Given the description of an element on the screen output the (x, y) to click on. 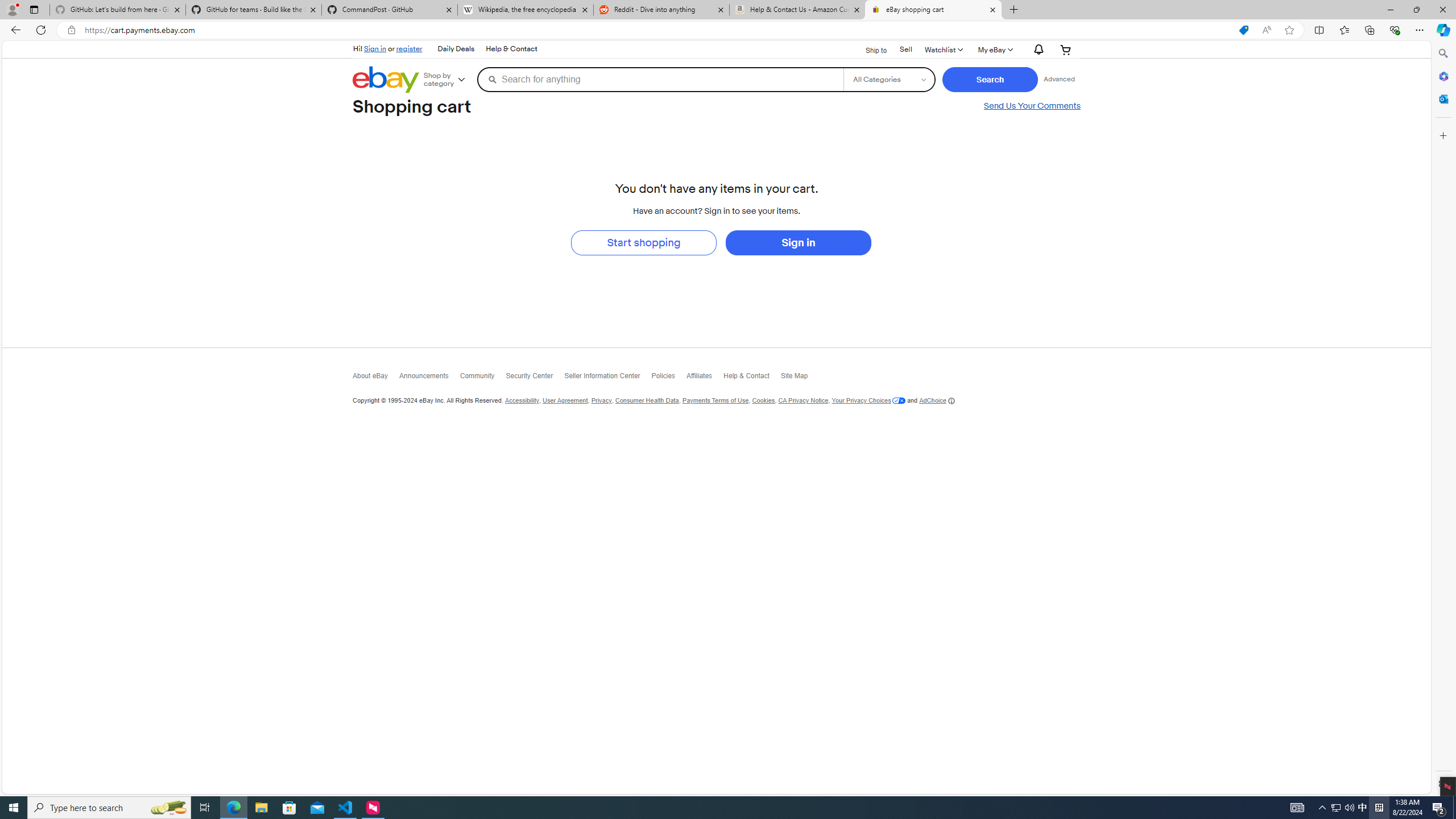
User Agreement (565, 400)
Accessibility (520, 400)
Start shopping (643, 242)
Affiliates (704, 378)
Sell (905, 49)
eBay shopping cart (933, 9)
Seller Information Center (608, 377)
Policies (667, 377)
Payments Terms of Use (714, 400)
WatchlistExpand Watch List (942, 49)
Daily Deals (455, 49)
